Given the description of an element on the screen output the (x, y) to click on. 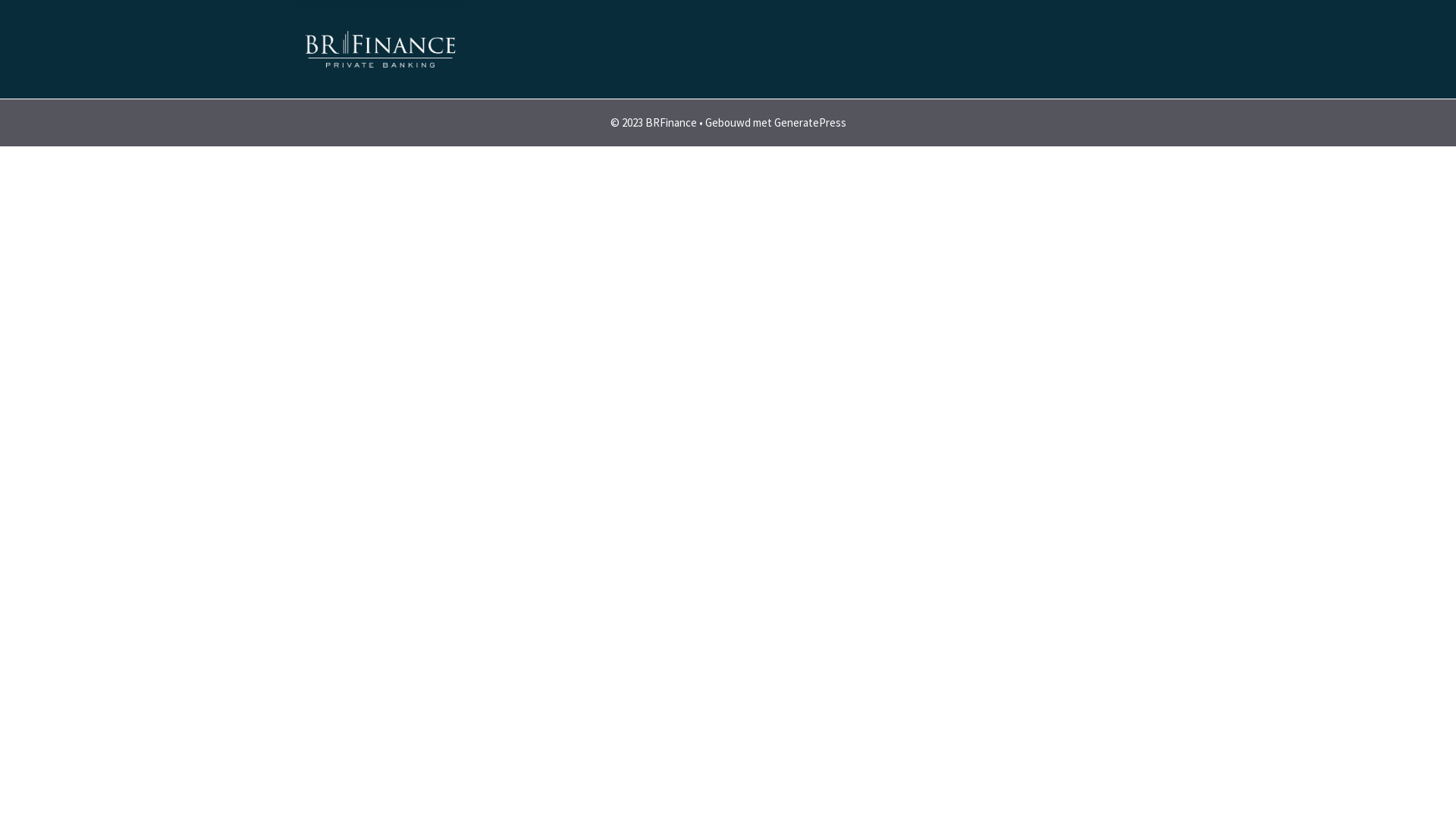
GeneratePress Element type: text (809, 122)
